Given the description of an element on the screen output the (x, y) to click on. 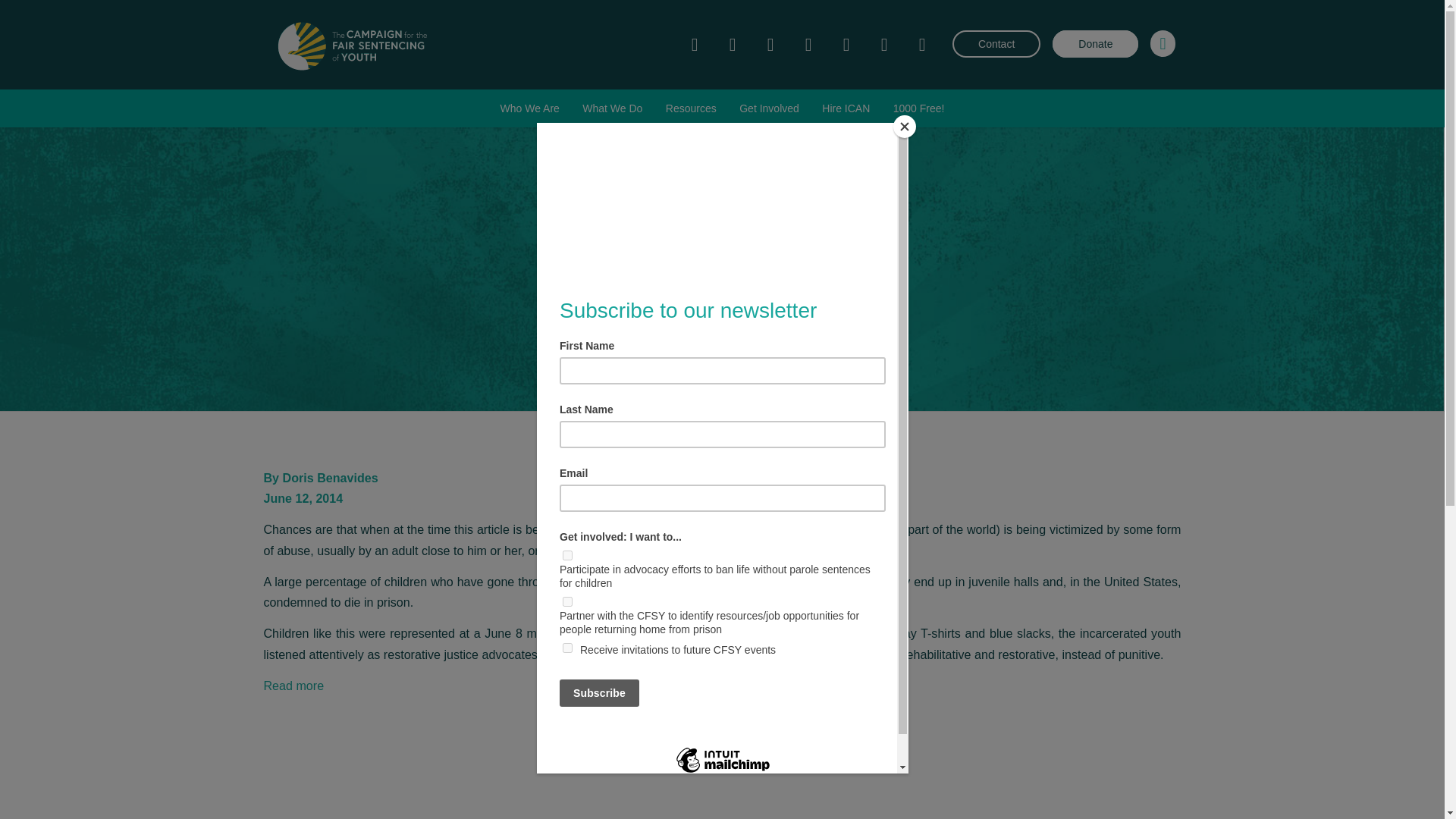
Who We Are (529, 108)
Facebook (694, 44)
Twitter (732, 44)
Instagram (769, 44)
Donate (1095, 43)
Resources (691, 108)
What We Do (612, 108)
Contact (996, 43)
